Given the description of an element on the screen output the (x, y) to click on. 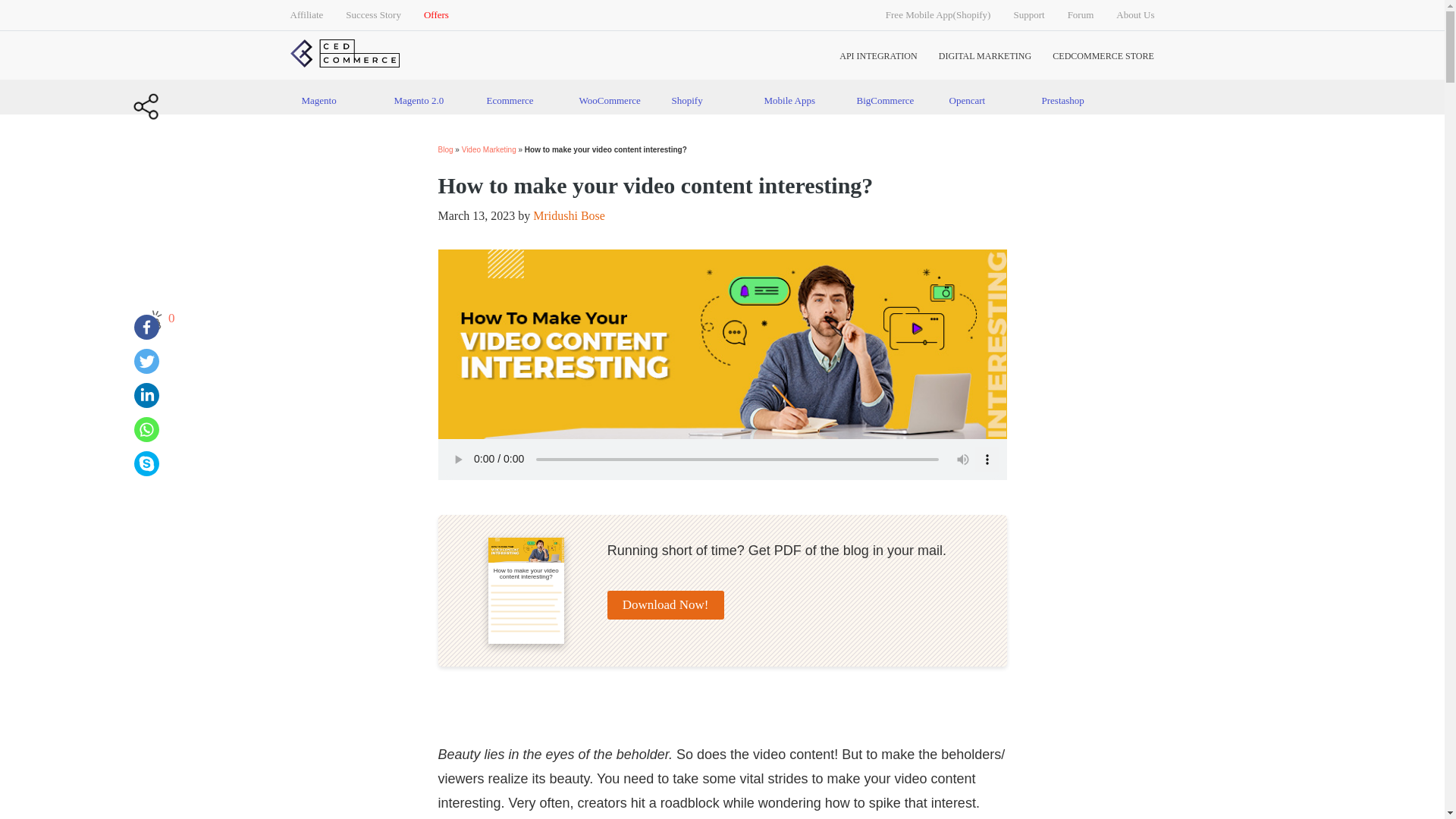
Ecommerce (520, 100)
About Us (1135, 14)
CEDCOMMERCE STORE (1102, 55)
Success Story (373, 14)
Affiliate (306, 14)
Mobile Apps (797, 100)
Magento (334, 100)
WooCommerce (612, 100)
Magento 2.0 (427, 100)
Offer (435, 14)
Shopify (705, 100)
Support (1028, 14)
success-story (373, 14)
Forum (1080, 14)
API INTEGRATION (878, 55)
